Given the description of an element on the screen output the (x, y) to click on. 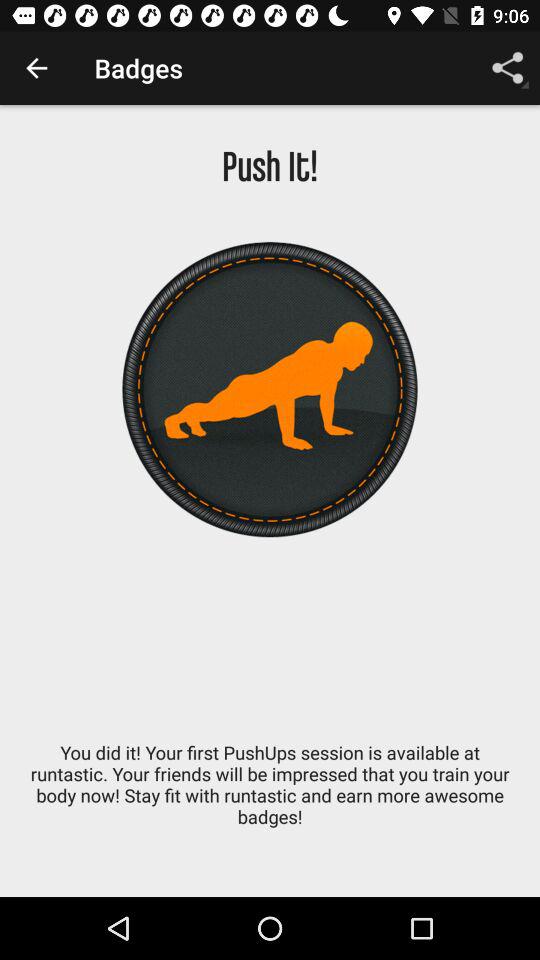
launch app next to badges app (36, 68)
